Given the description of an element on the screen output the (x, y) to click on. 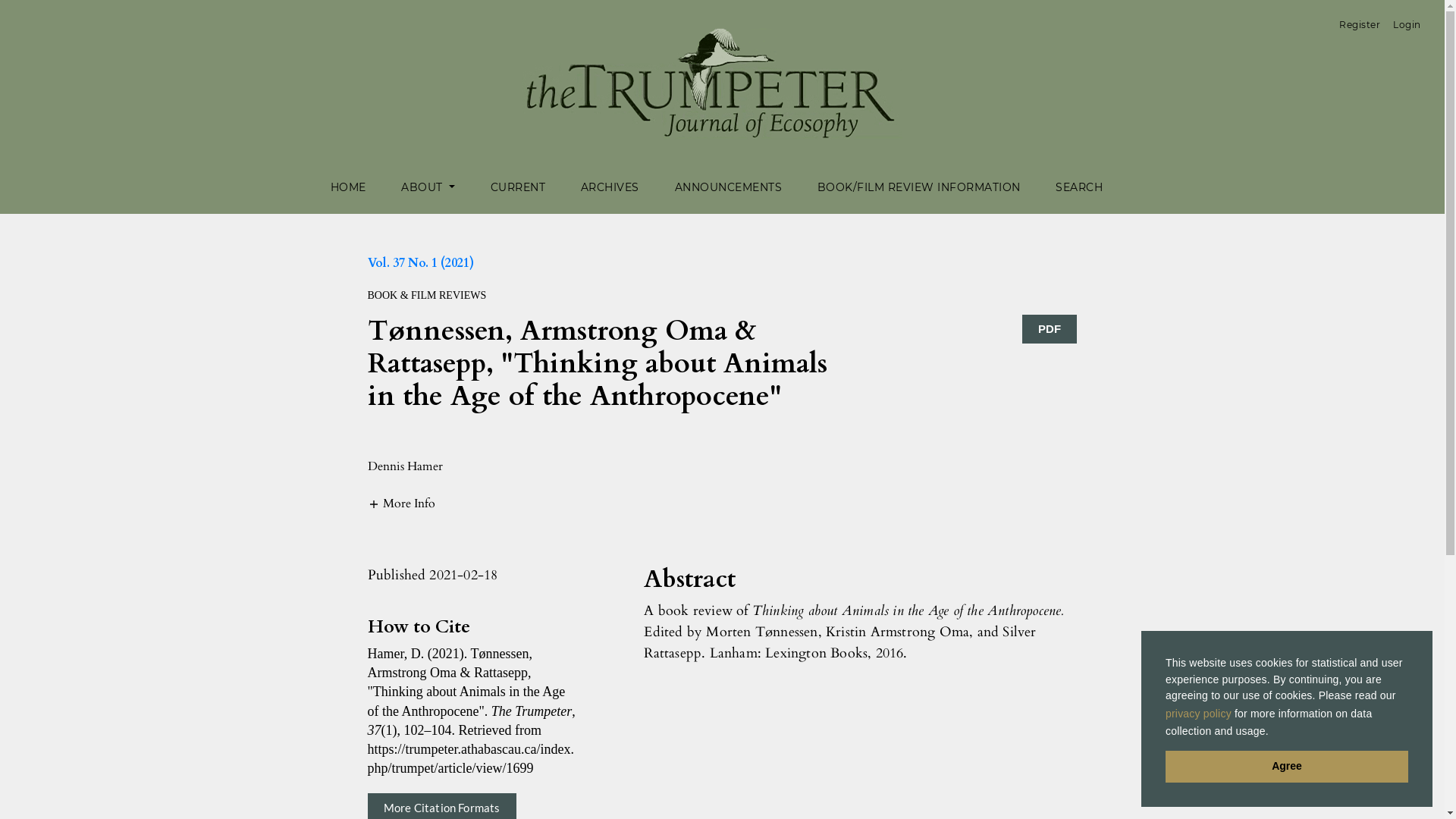
Login Element type: text (1406, 24)
Register Element type: text (1359, 24)
ABOUT Element type: text (428, 187)
SEARCH Element type: text (1078, 187)
PDF Element type: text (1049, 329)
CURRENT Element type: text (518, 187)
ANNOUNCEMENTS Element type: text (728, 187)
Agree Element type: text (1286, 766)
privacy policy Element type: text (1198, 713)
More Info Element type: text (400, 502)
Vol. 37 No. 1 (2021) Element type: text (420, 262)
HOME Element type: text (348, 187)
BOOK/FILM REVIEW INFORMATION Element type: text (918, 187)
ARCHIVES Element type: text (609, 187)
